Given the description of an element on the screen output the (x, y) to click on. 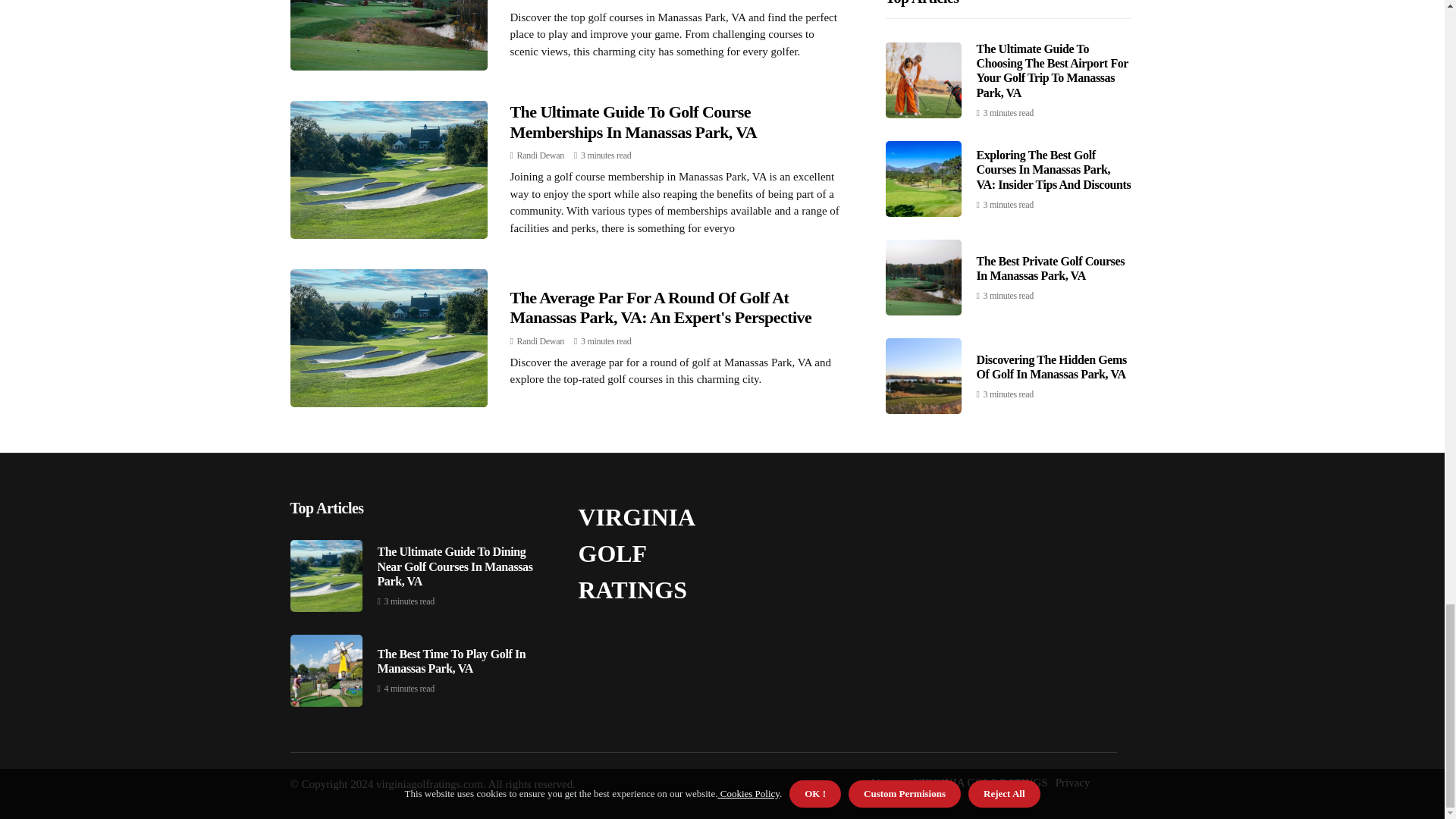
Posts by Randi Dewan (540, 0)
Randi Dewan (540, 340)
Randi Dewan (540, 0)
Posts by Randi Dewan (540, 340)
Randi Dewan (540, 154)
Posts by Randi Dewan (540, 154)
